Given the description of an element on the screen output the (x, y) to click on. 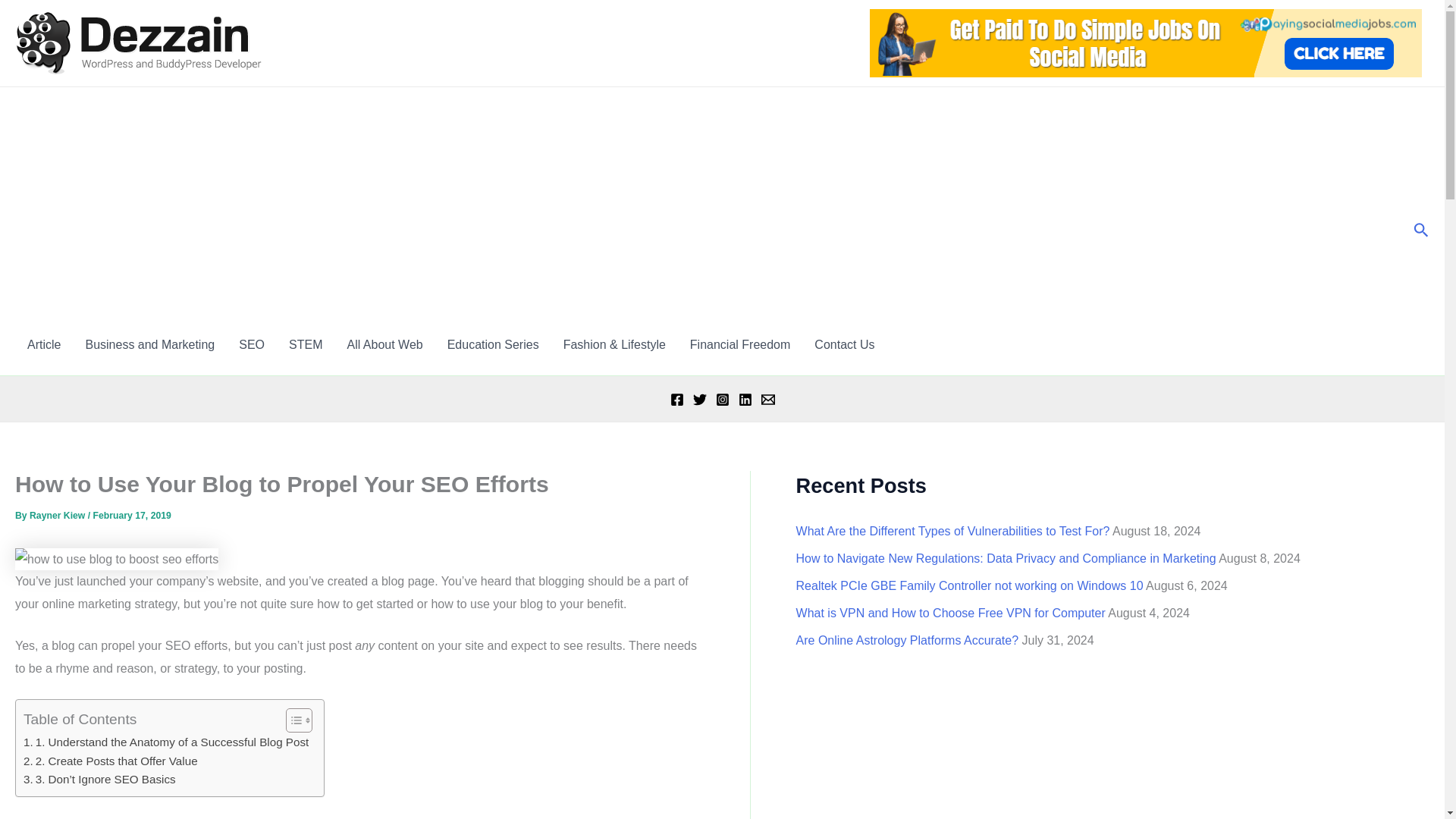
Financial Freedom (740, 344)
1. Understand the Anatomy of a Successful Blog Post (165, 742)
Education Series (493, 344)
2. Create Posts that Offer Value (110, 761)
Contact Us (844, 344)
any inquiries? (844, 344)
Business and Marketing (149, 344)
Article (43, 344)
Rayner Kiew (58, 515)
